Given the description of an element on the screen output the (x, y) to click on. 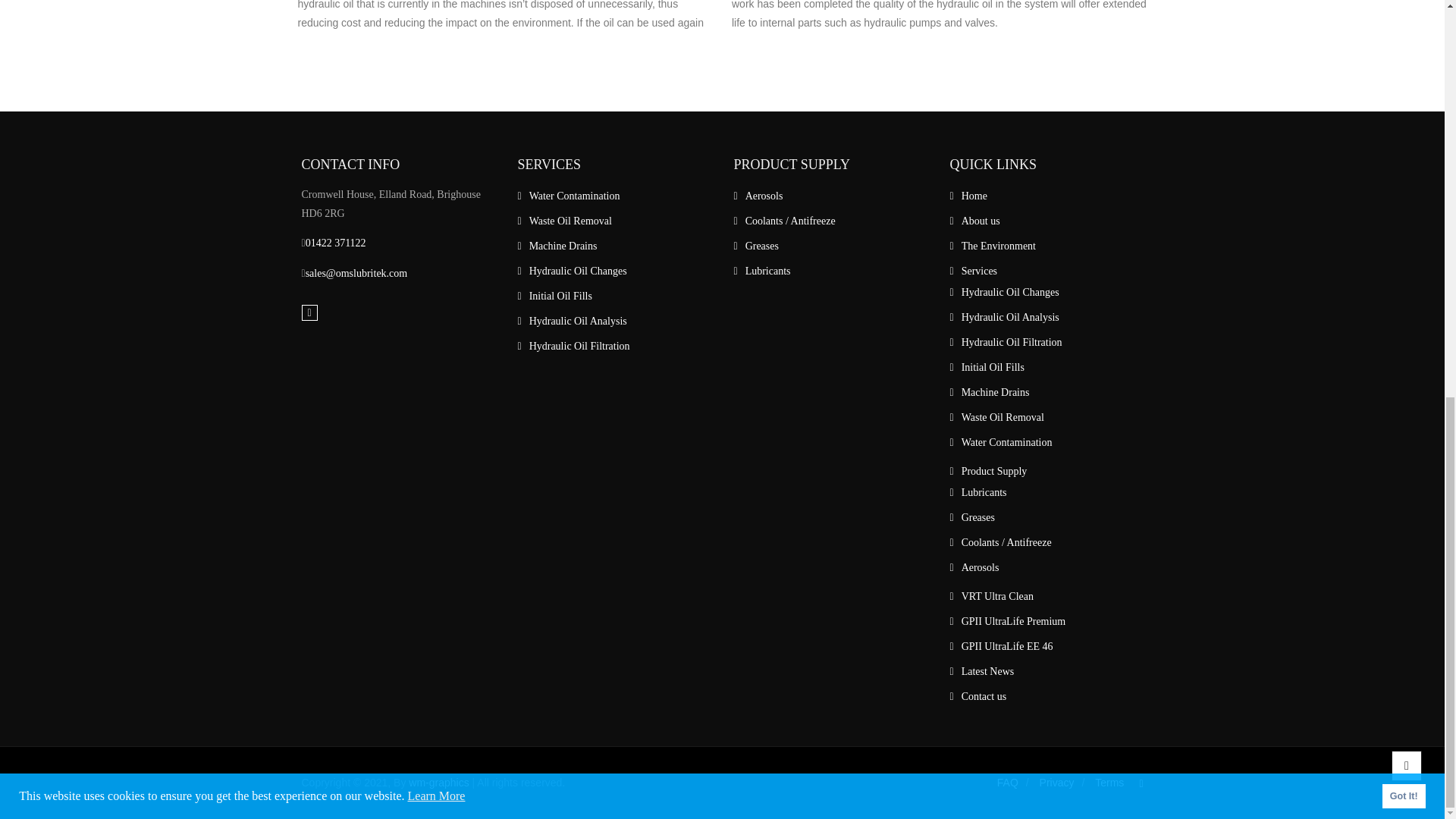
Got It! (1403, 25)
Learn More (436, 25)
LinkedIn (309, 312)
